Given the description of an element on the screen output the (x, y) to click on. 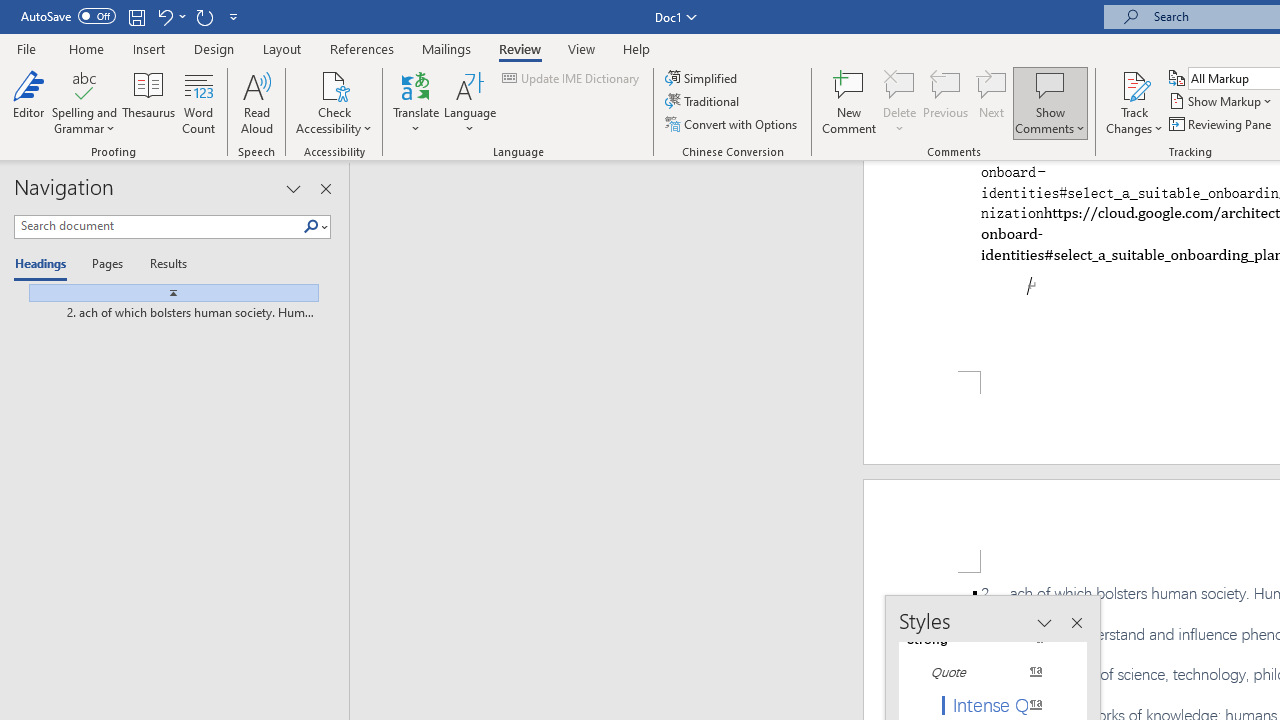
Undo Style (164, 15)
Traditional (703, 101)
Language (470, 102)
Headings (45, 264)
Jump to the beginning (166, 292)
Undo Style (170, 15)
Translate (415, 102)
Track Changes (1134, 84)
Show Markup (1222, 101)
Track Changes (1134, 102)
